Given the description of an element on the screen output the (x, y) to click on. 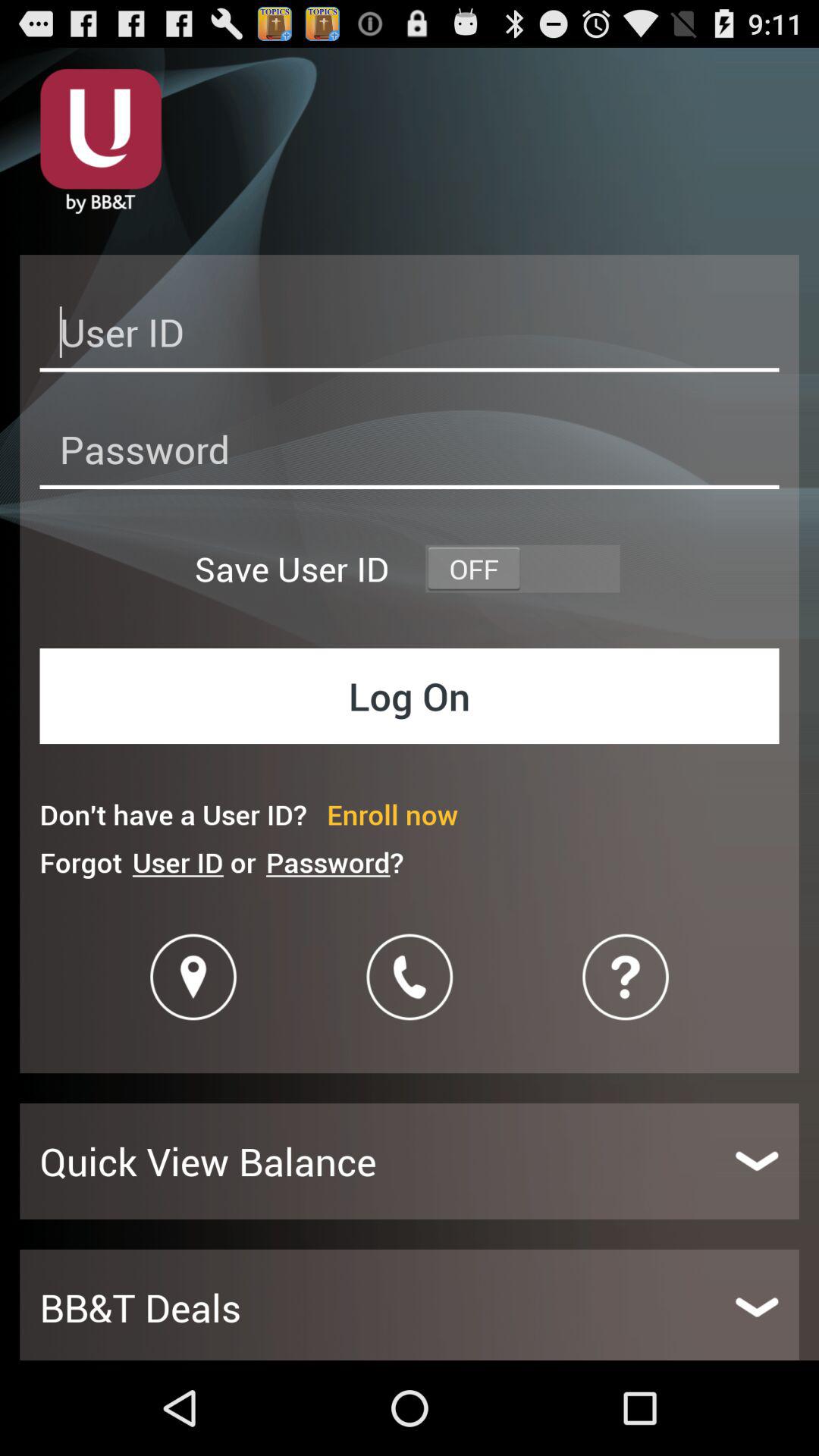
enter password (409, 454)
